Given the description of an element on the screen output the (x, y) to click on. 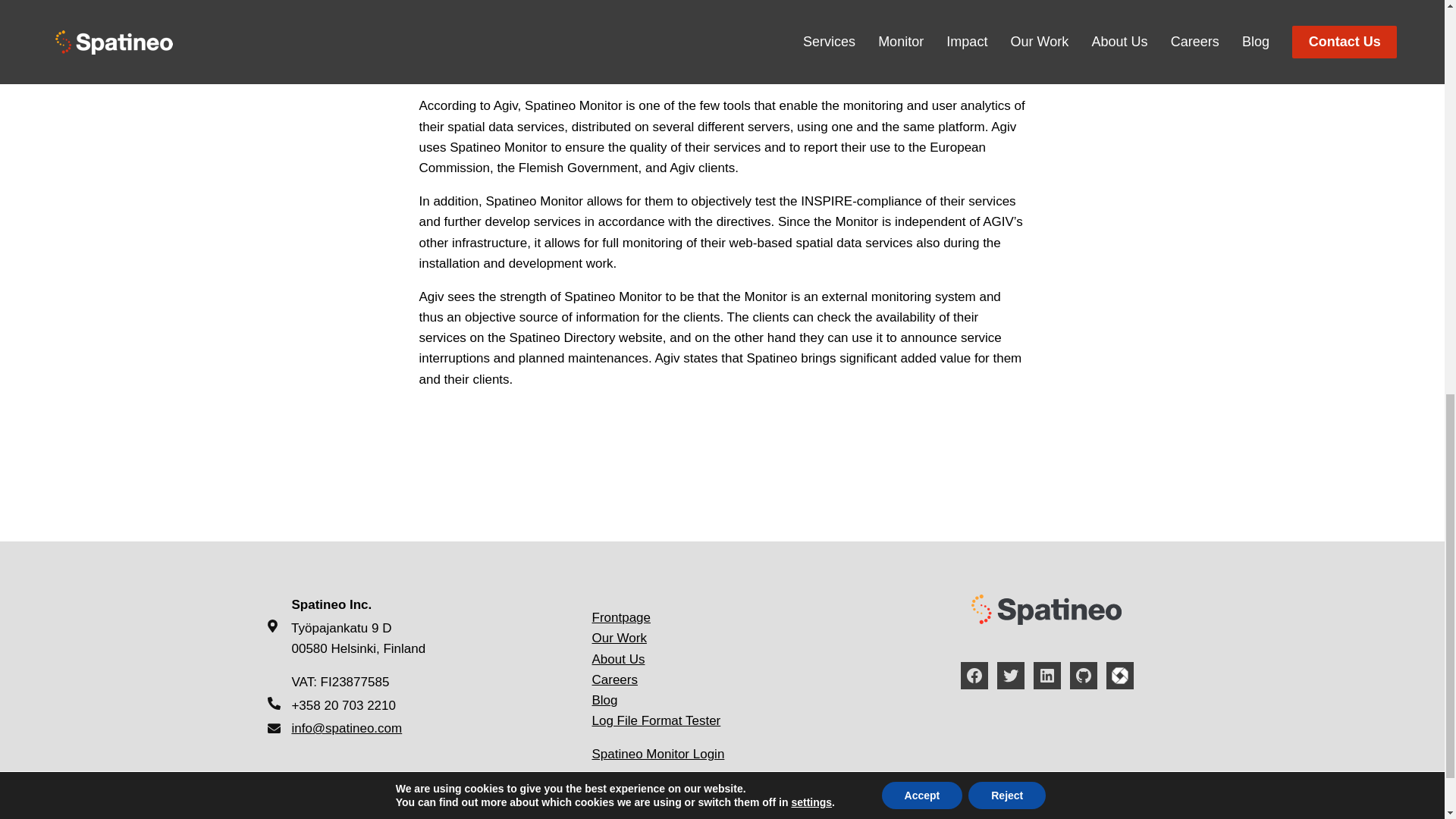
Our Work (618, 637)
About Us (618, 658)
Frontpage (620, 617)
Blog (604, 699)
Careers (614, 679)
Log File Format Tester (655, 720)
